Given the description of an element on the screen output the (x, y) to click on. 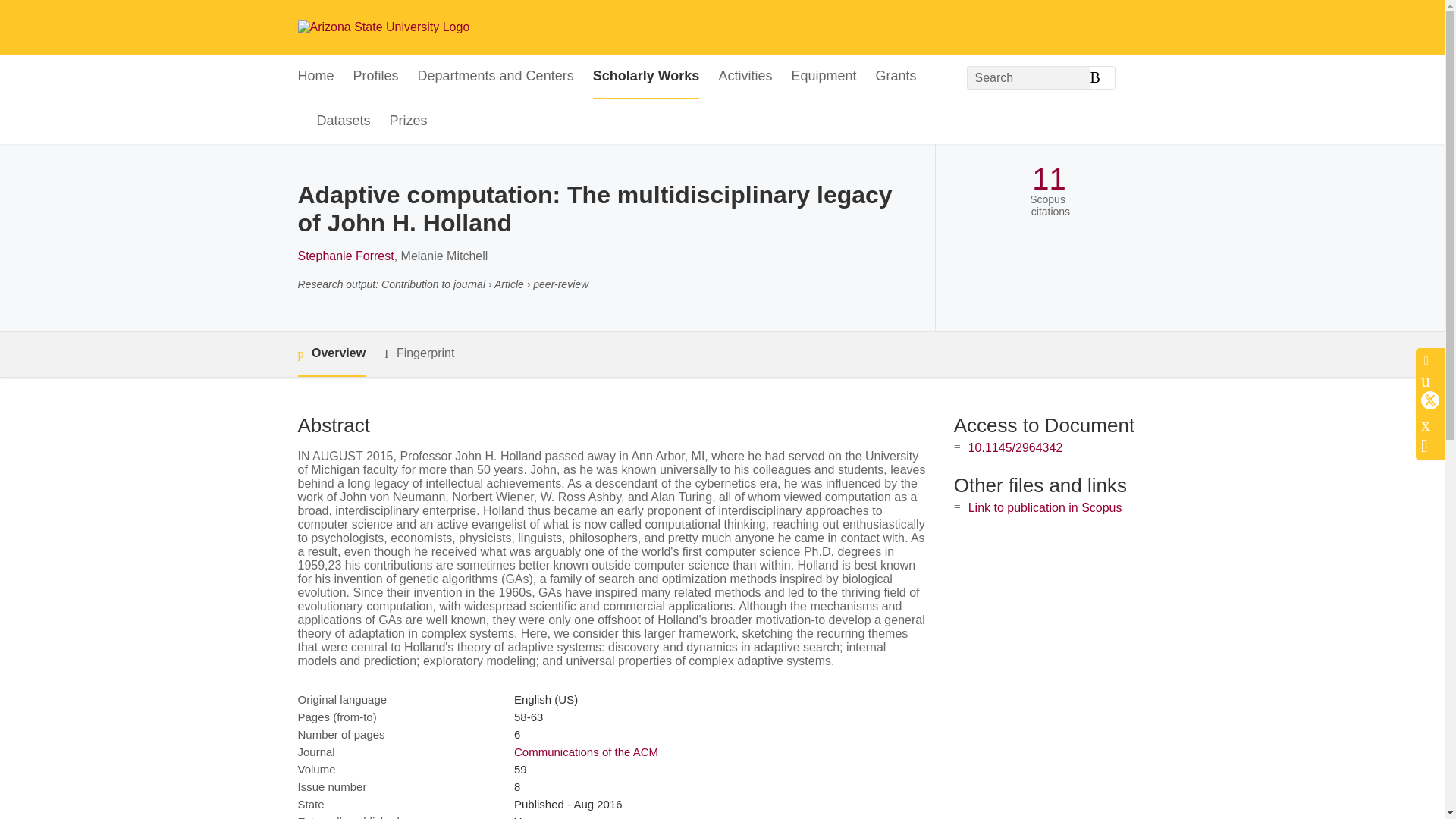
Communications of the ACM (585, 751)
Departments and Centers (495, 76)
Scholarly Works (646, 76)
Profiles (375, 76)
Overview (331, 354)
11 (1048, 179)
Stephanie Forrest (345, 255)
Datasets (344, 121)
Fingerprint (419, 353)
Activities (744, 76)
Equipment (823, 76)
Grants (895, 76)
Arizona State University Home (382, 27)
Link to publication in Scopus (1045, 507)
